Given the description of an element on the screen output the (x, y) to click on. 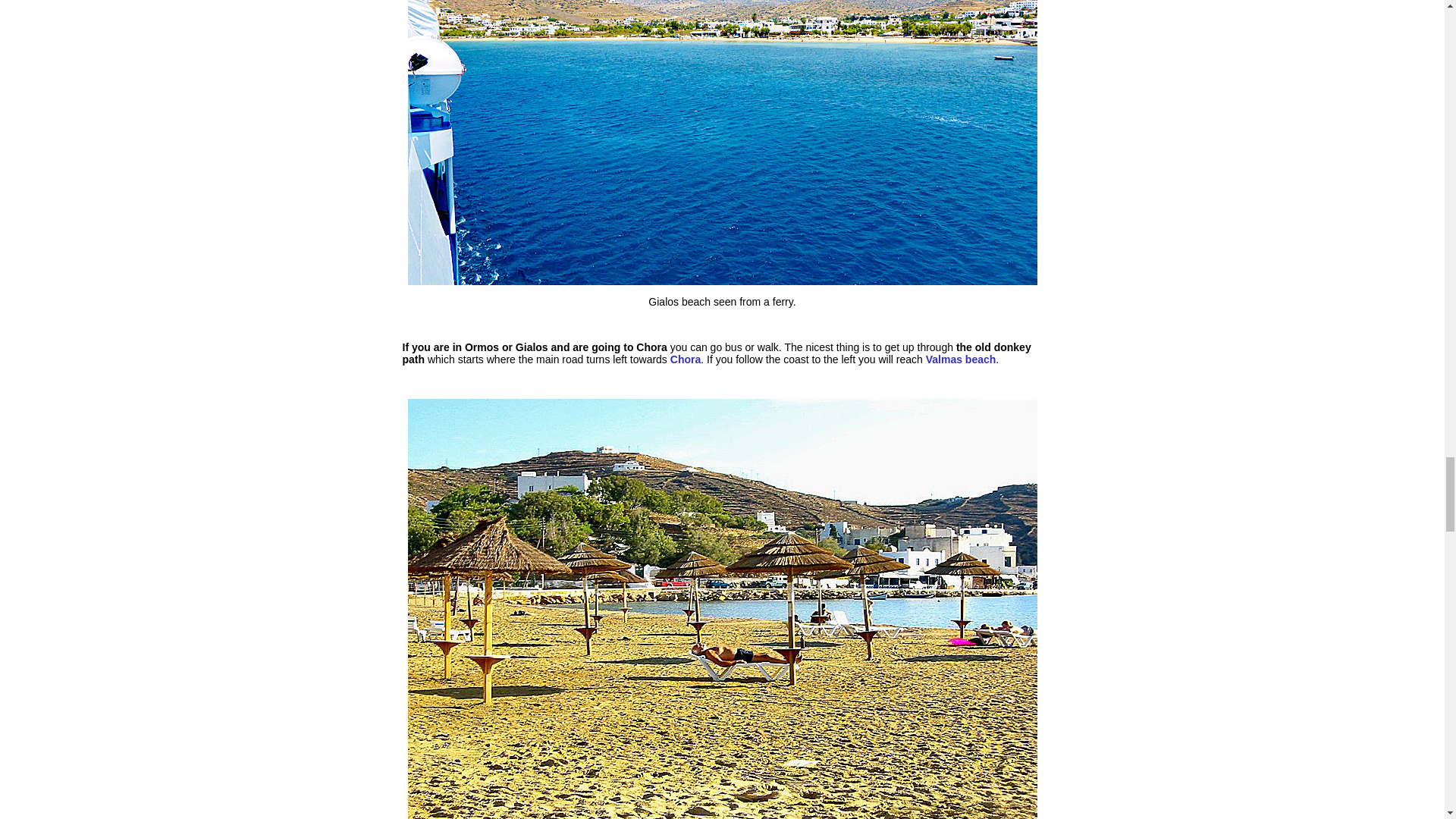
Valmas beach (960, 358)
Chora (684, 358)
